Given the description of an element on the screen output the (x, y) to click on. 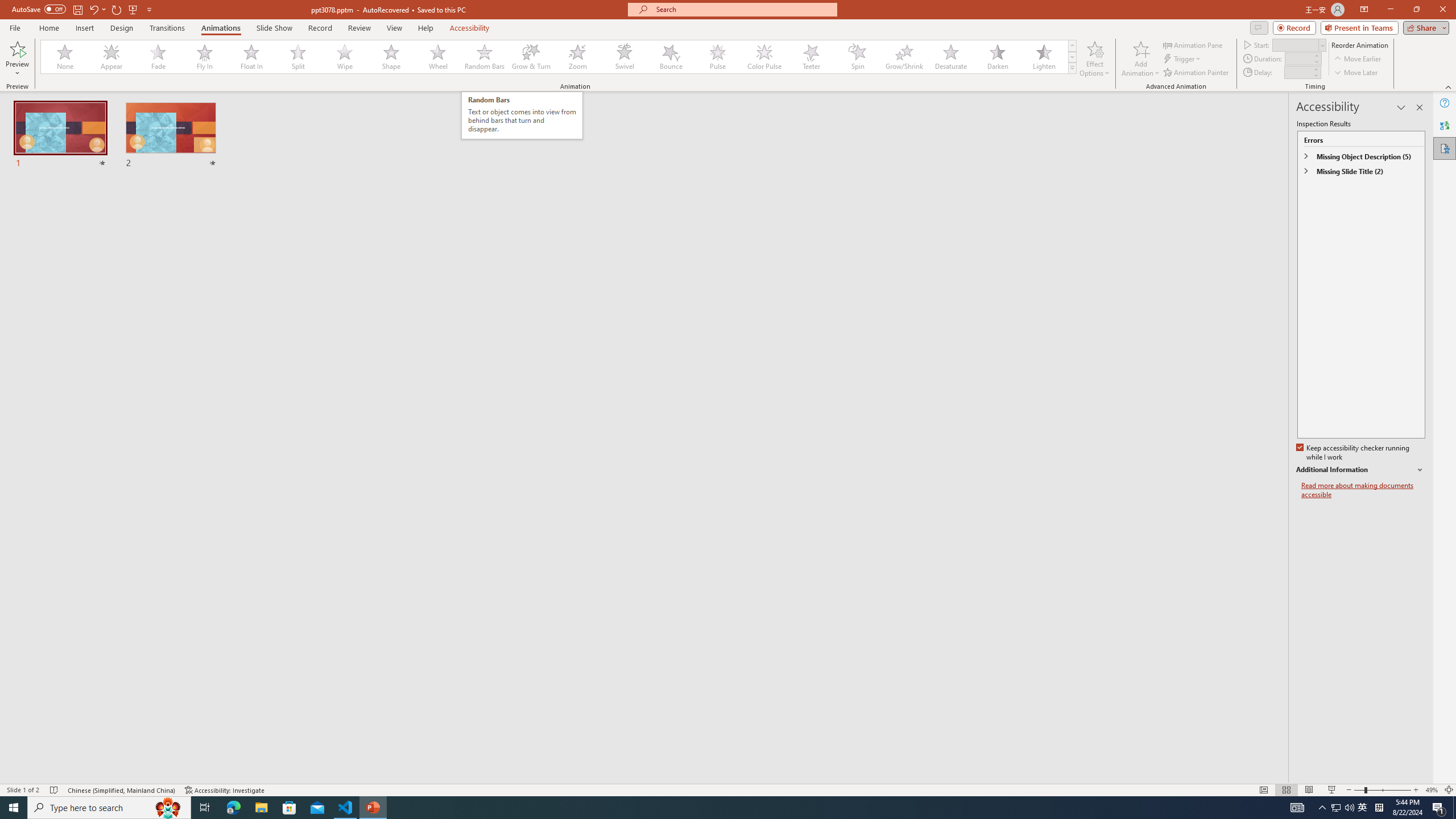
Animation Delay (1297, 72)
Wipe (344, 56)
Desaturate (950, 56)
Float In (251, 56)
Zoom 49% (1431, 790)
